Given the description of an element on the screen output the (x, y) to click on. 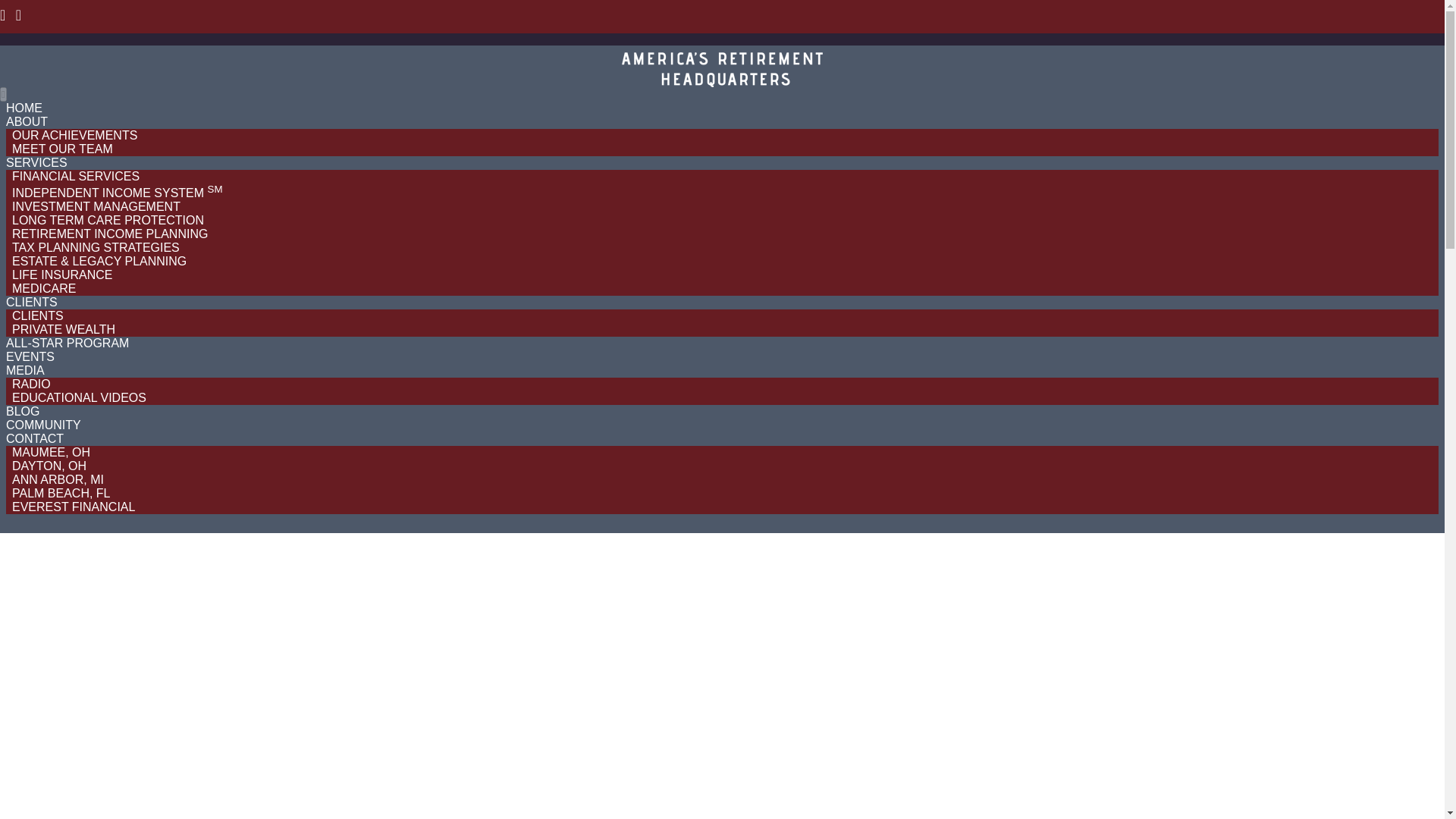
MEDIA (846, 73)
COMMUNITY (990, 73)
EVENTS (774, 73)
HOME (366, 73)
ALL-STAR PROGRAM (695, 82)
CONTACT (1084, 73)
BLOG (911, 73)
ABOUT (434, 73)
SERVICES (518, 73)
CLIENTS (608, 73)
